Given the description of an element on the screen output the (x, y) to click on. 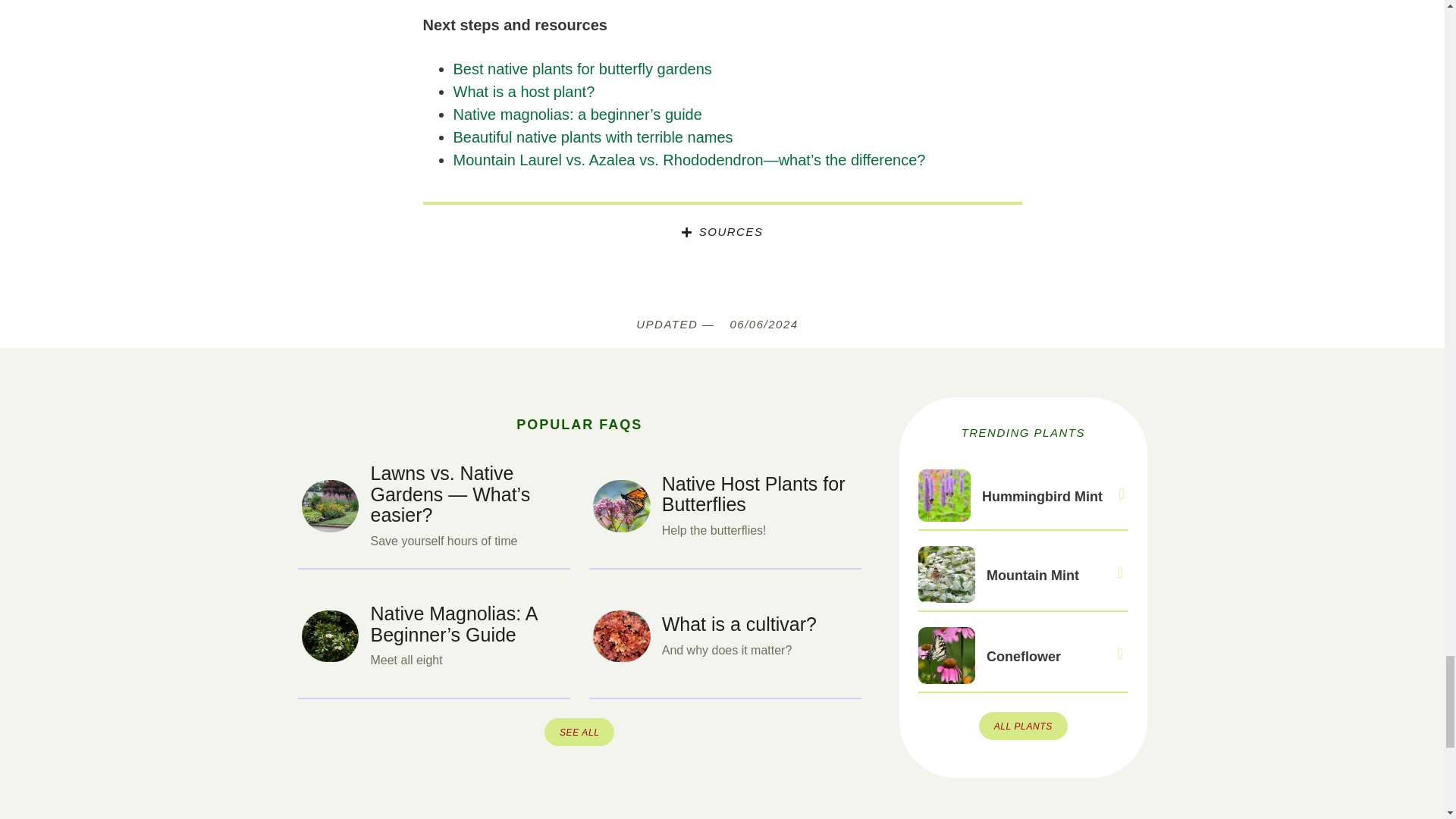
native-garden-with-obedient-plant-pairing-black-eyed-susans (330, 505)
